Given the description of an element on the screen output the (x, y) to click on. 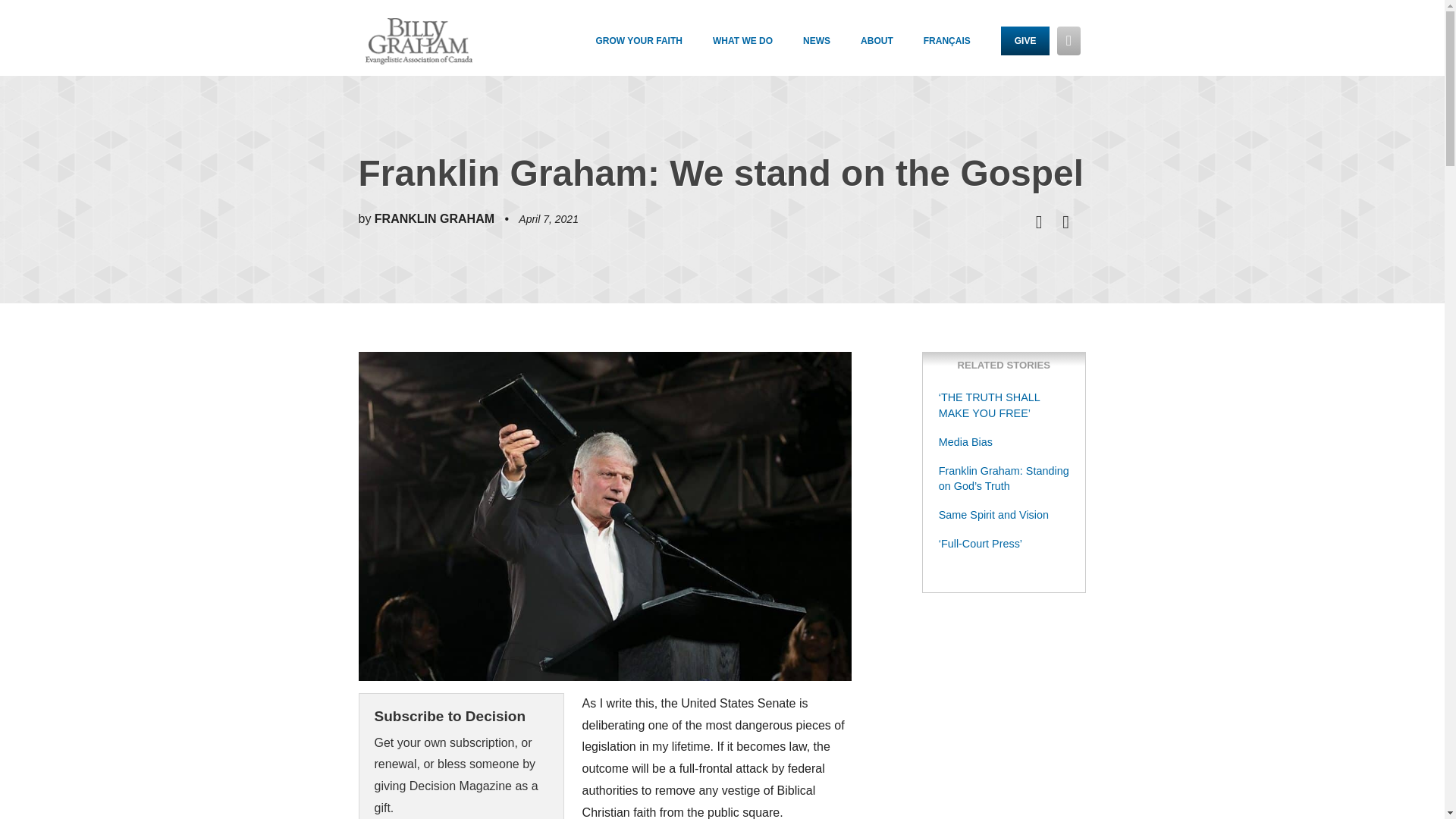
GROW YOUR FAITH (654, 46)
WHAT WE DO (758, 46)
NEWS (831, 46)
